Given the description of an element on the screen output the (x, y) to click on. 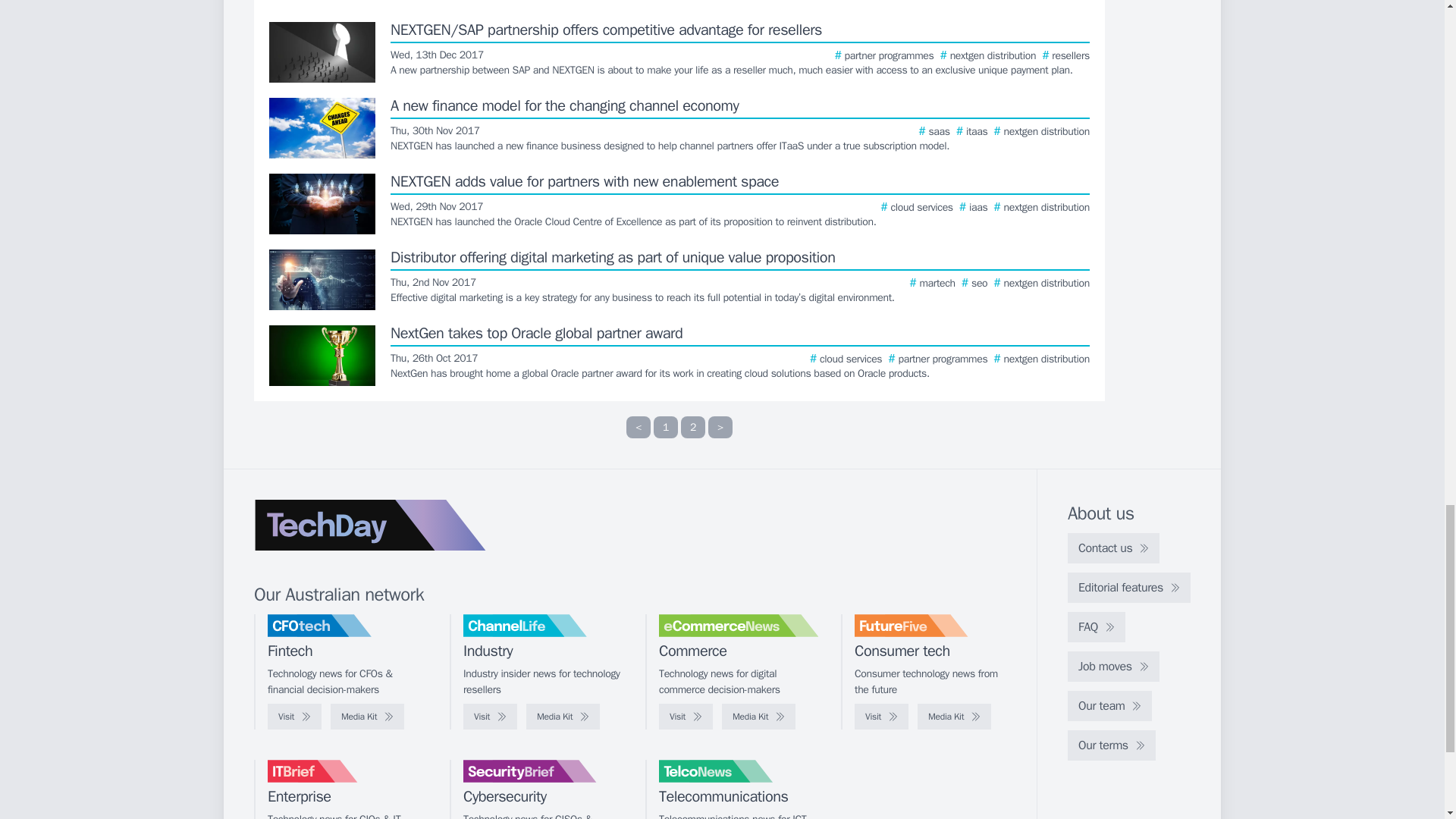
Media Kit (758, 716)
Visit (294, 716)
Visit (489, 716)
Visit (686, 716)
1 (665, 427)
Media Kit (562, 716)
Media Kit (367, 716)
2 (692, 427)
